Given the description of an element on the screen output the (x, y) to click on. 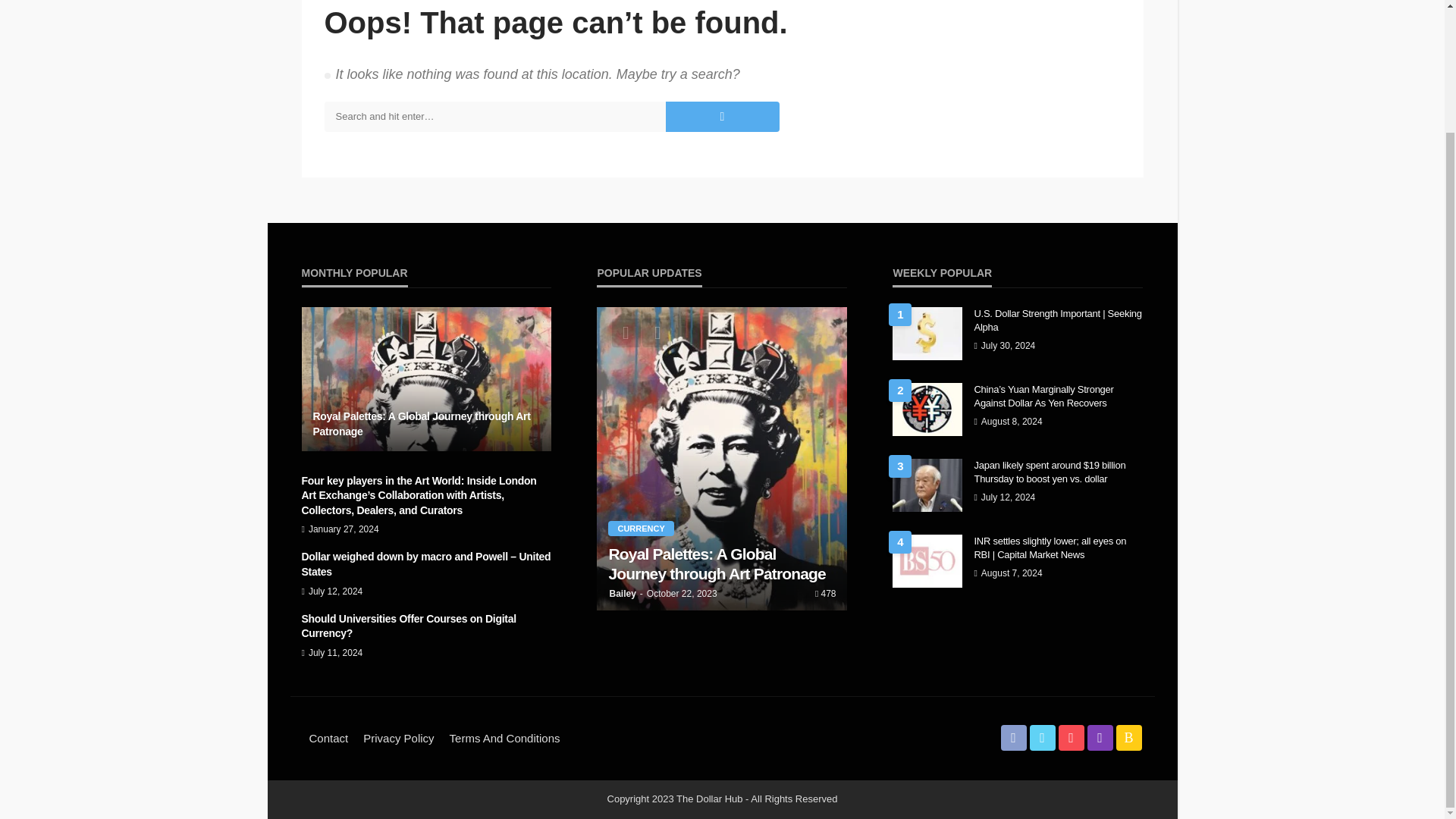
CURRENCY (640, 528)
Royal Palettes: A Global Journey through Art Patronage (426, 379)
Royal Palettes: A Global Journey through Art Patronage (426, 423)
Should Universities Offer Courses on Digital Currency? (426, 626)
Should Universities Offer Courses on Digital Currency? (426, 626)
Royal Palettes: A Global Journey through Art Patronage (721, 564)
Search for: (494, 116)
Bailey (621, 593)
Royal Palettes: A Global Journey through Art Patronage (426, 423)
